Given the description of an element on the screen output the (x, y) to click on. 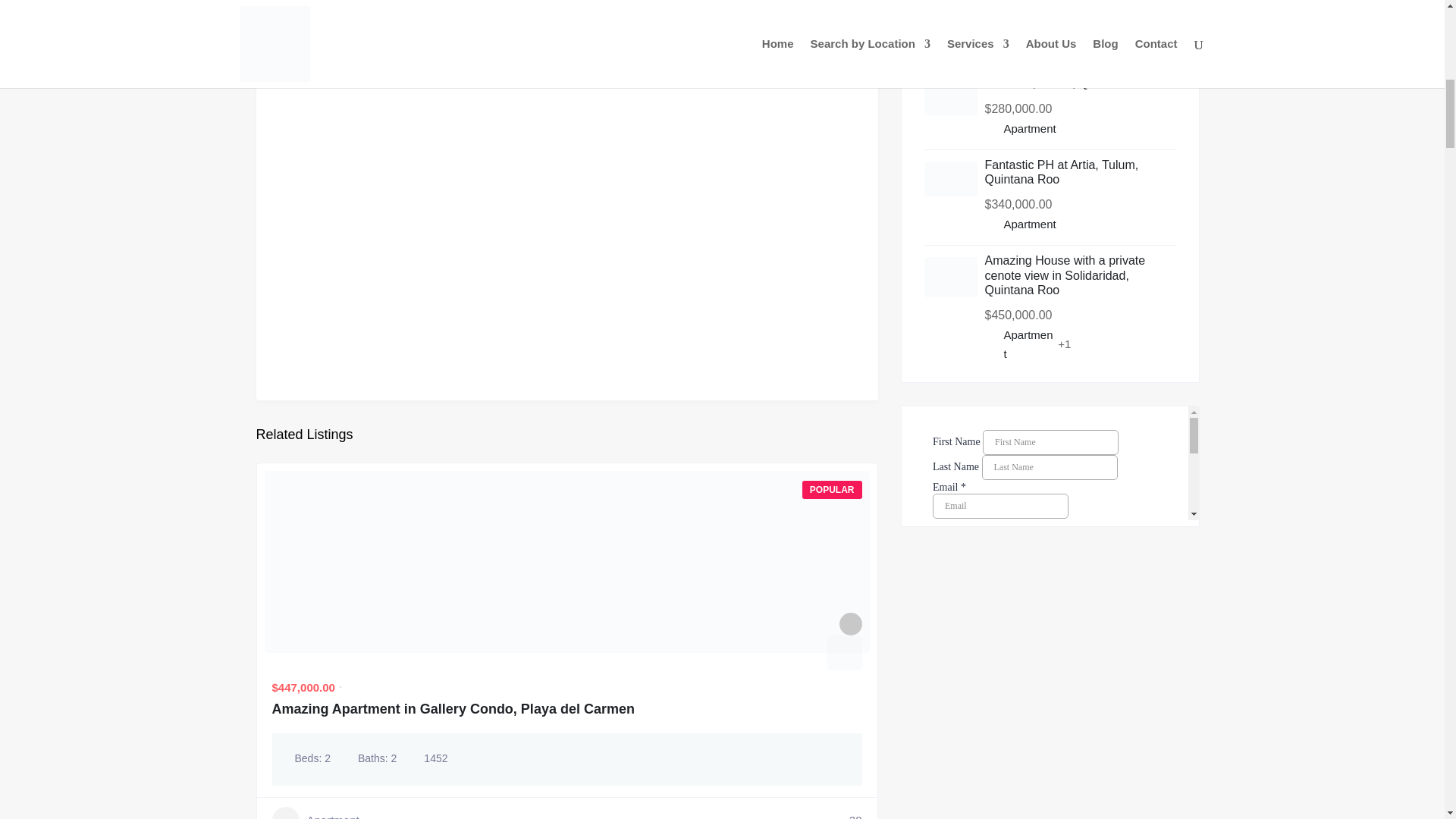
Contact Home Tulum (1049, 463)
Amazing Apartment in Gallery Condo, Playa del Carmen (451, 708)
Apartment (314, 812)
